Given the description of an element on the screen output the (x, y) to click on. 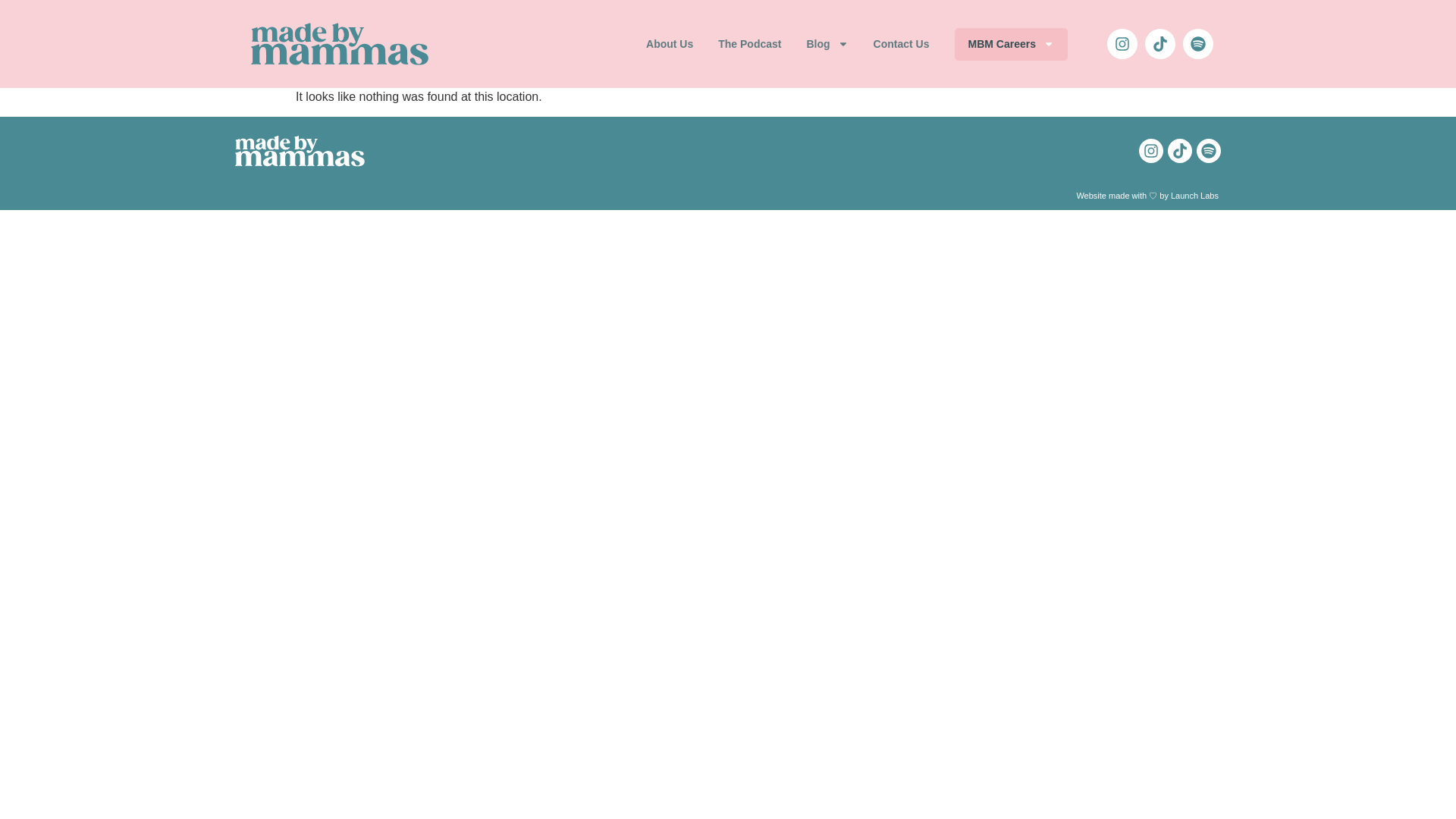
Contact Us (901, 43)
Blog (827, 43)
The Podcast (748, 43)
About Us (669, 43)
MBM Careers (1011, 43)
Launch Labs  (1195, 194)
